Given the description of an element on the screen output the (x, y) to click on. 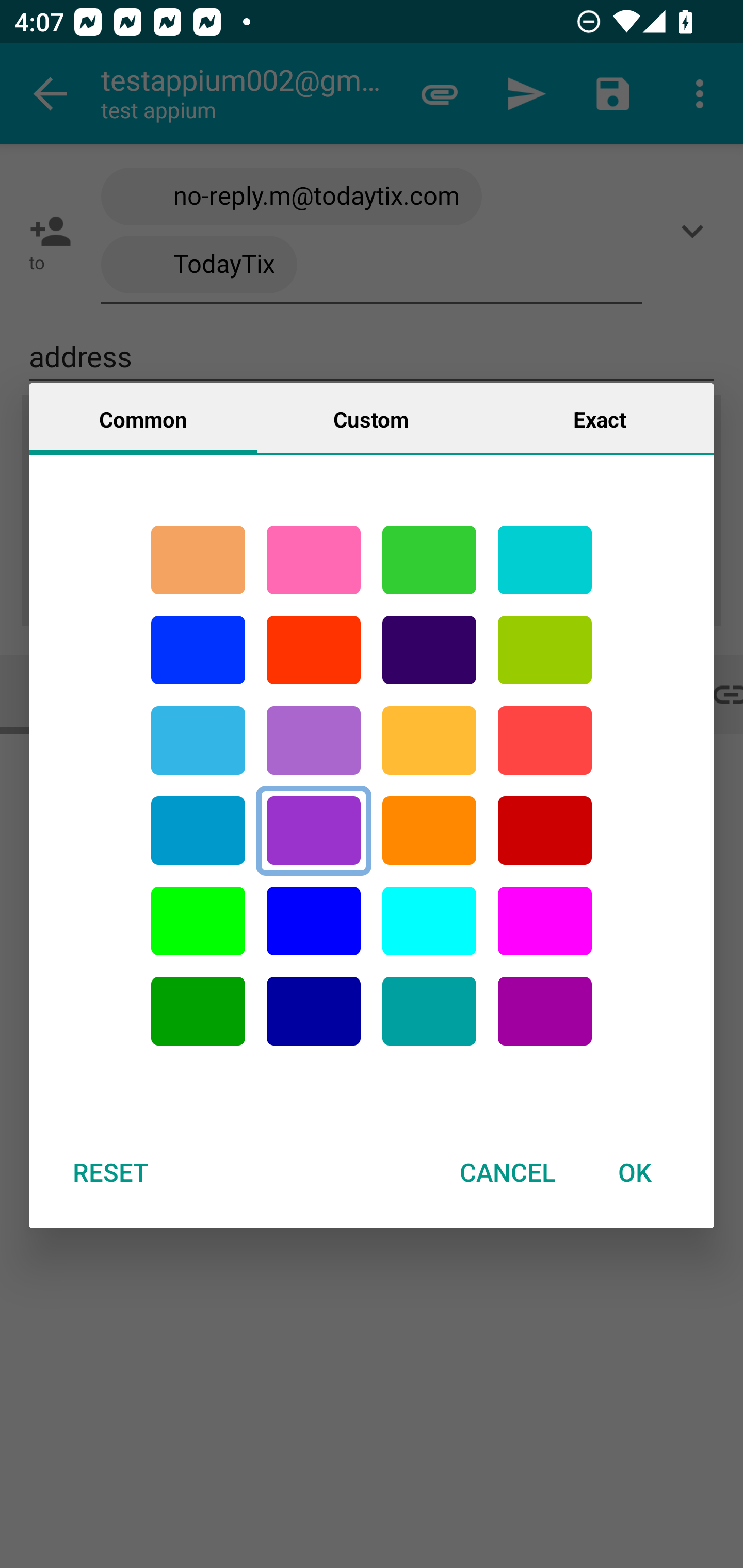
Common (142, 418)
Custom (371, 418)
Exact (599, 418)
Peach (197, 559)
Pink (313, 559)
Green (429, 559)
Cyan (544, 559)
Blue (197, 649)
Red (313, 649)
Dark purple (429, 649)
Light green (544, 649)
Cyan (197, 739)
Purple (313, 739)
Light orange (429, 739)
Light red (544, 739)
Dark cyan (197, 830)
Purple (313, 830)
Orange (429, 830)
Dark red (544, 830)
Light green (197, 920)
Blue (313, 920)
Light cyan (429, 920)
Light purple (544, 920)
Dark green (197, 1010)
Dark blue (313, 1010)
Cyan (429, 1010)
Purple (544, 1010)
RESET (110, 1171)
CANCEL (507, 1171)
OK (634, 1171)
